Given the description of an element on the screen output the (x, y) to click on. 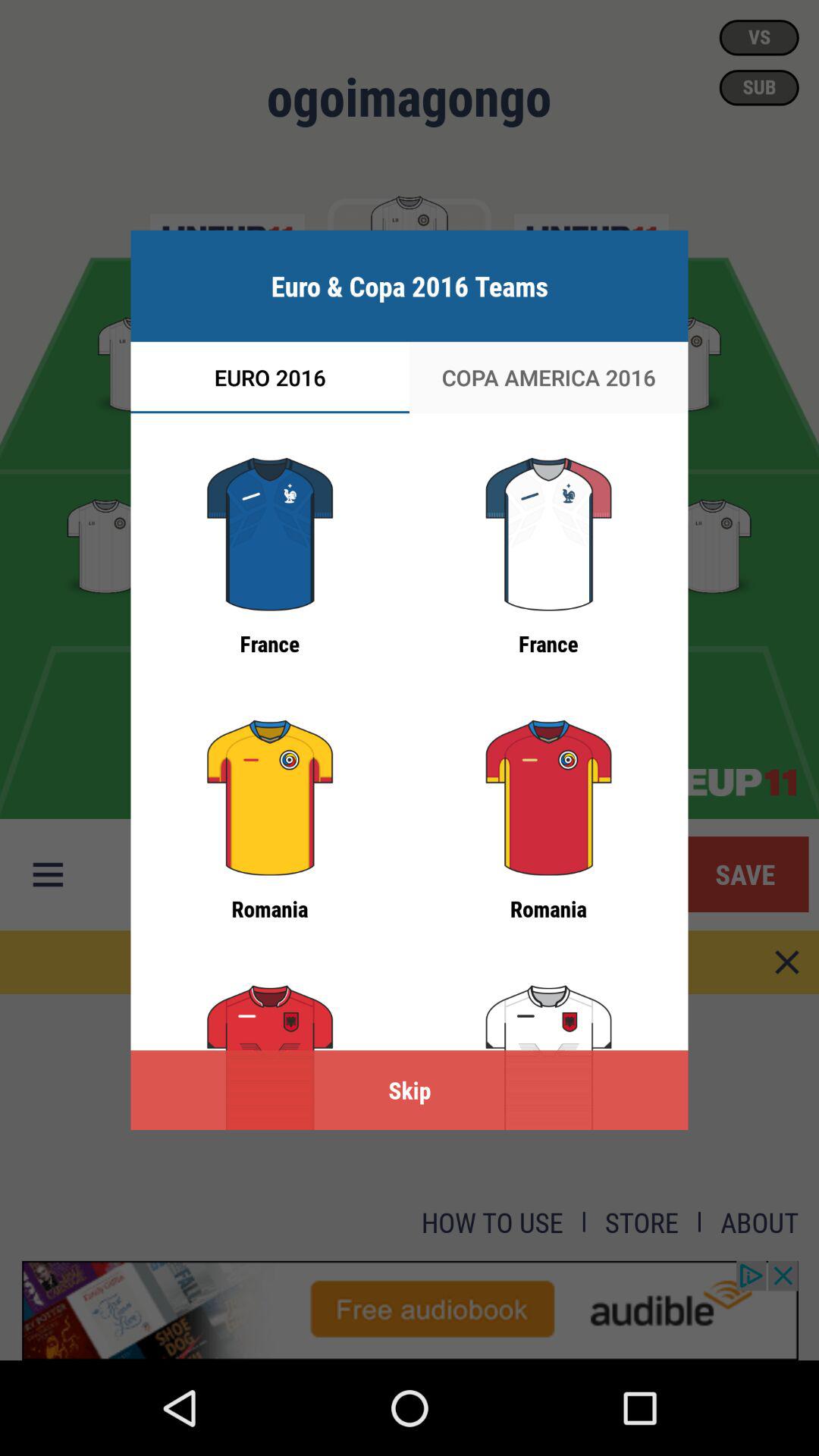
turn off item below the romania (409, 1090)
